Given the description of an element on the screen output the (x, y) to click on. 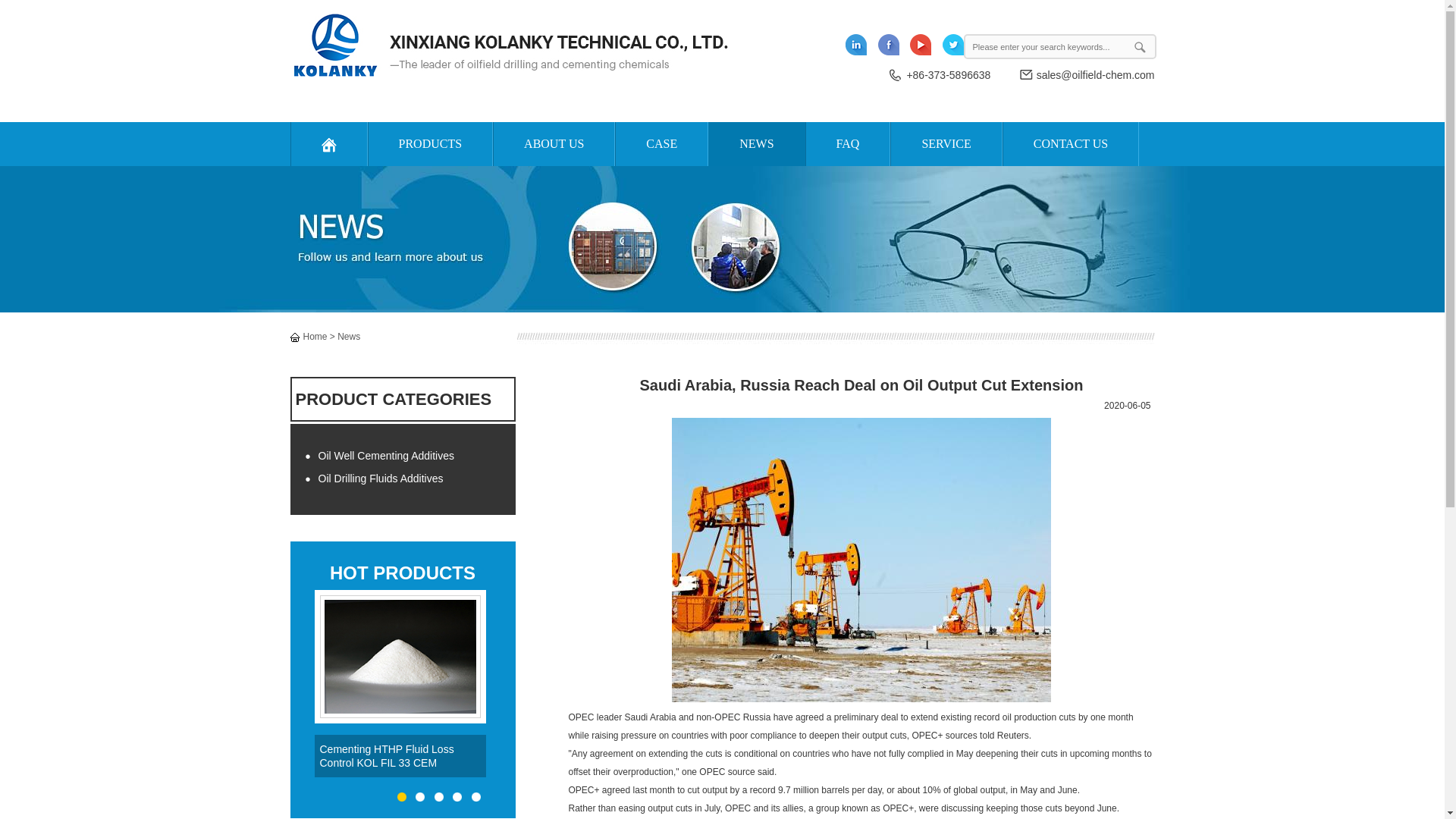
PRODUCTS (429, 144)
CONTACT US (1070, 144)
PRODUCT CATEGORIES (402, 398)
NEWS (756, 144)
Home (314, 336)
FAQ (848, 144)
CASE (660, 144)
News (348, 336)
Oil Well Cementing Additives (401, 456)
ABOUT US (553, 144)
